Given the description of an element on the screen output the (x, y) to click on. 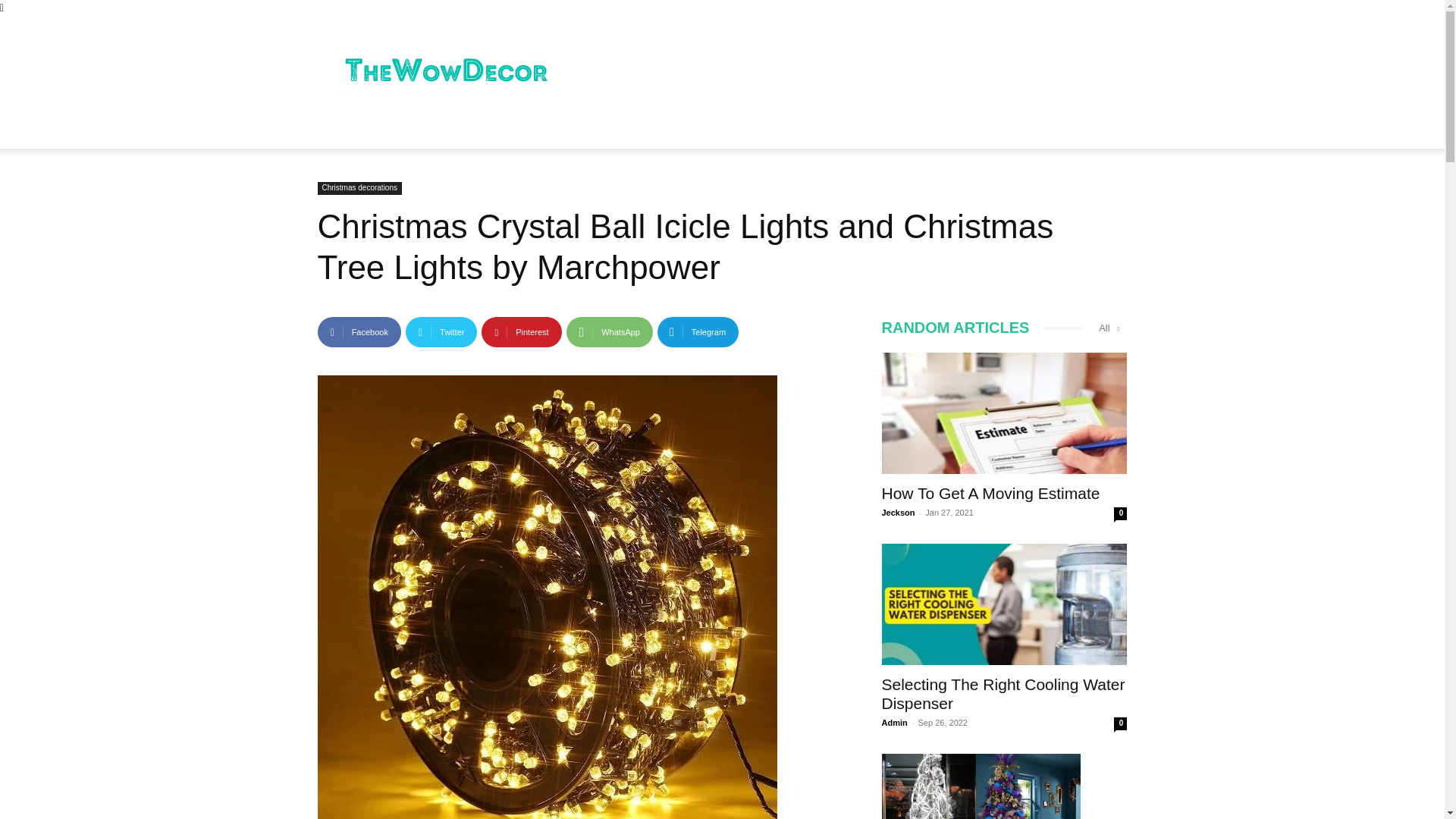
HOME DECOR (440, 130)
Advertisement (850, 70)
INDOOR (355, 130)
Pinterest (520, 331)
Facebook (358, 331)
WhatsApp (609, 331)
Telegram (698, 331)
OUTDOORS (535, 130)
Twitter (441, 331)
